Given the description of an element on the screen output the (x, y) to click on. 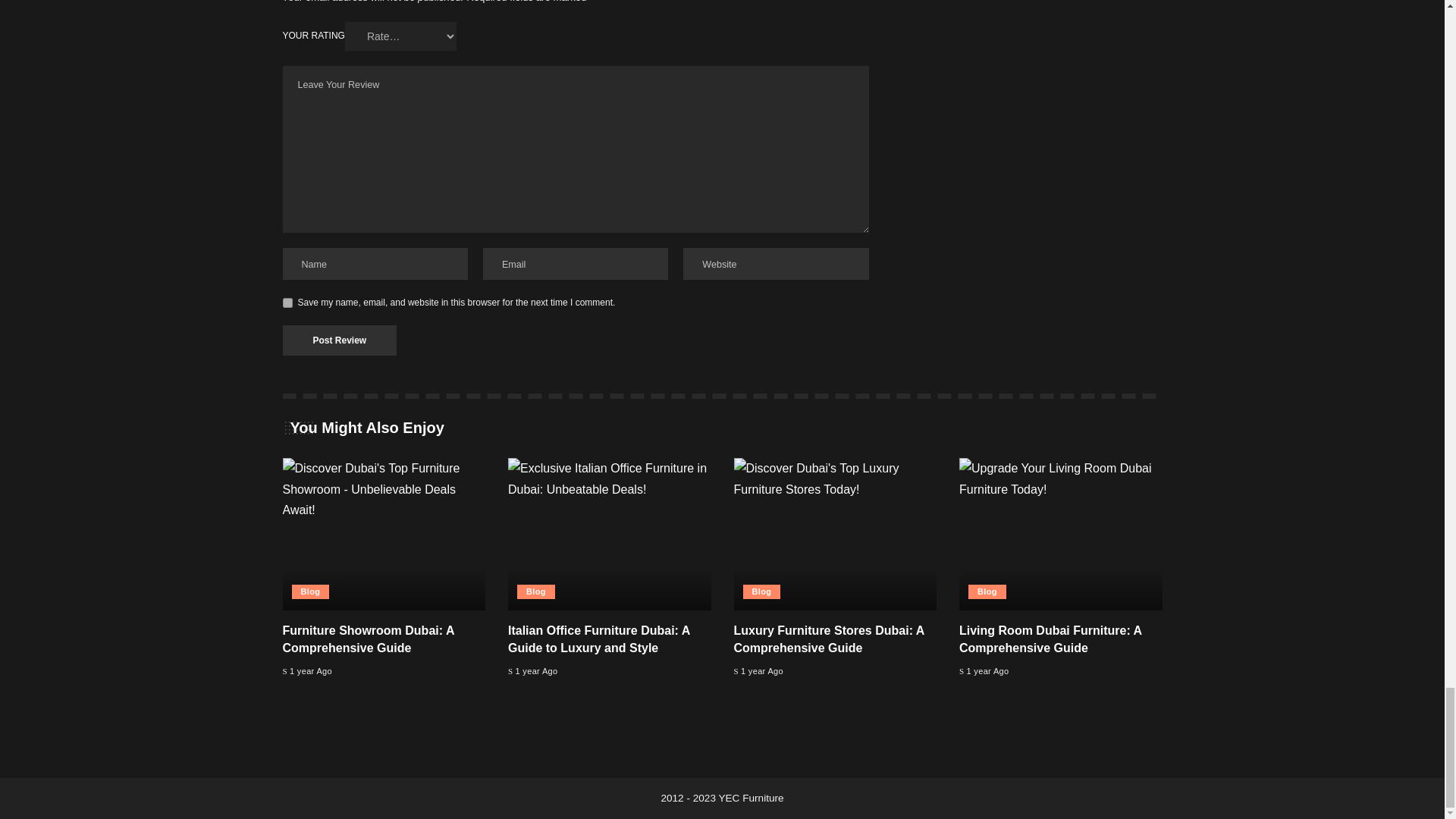
yes (287, 302)
Post Review (339, 340)
Post Review (339, 340)
